Given the description of an element on the screen output the (x, y) to click on. 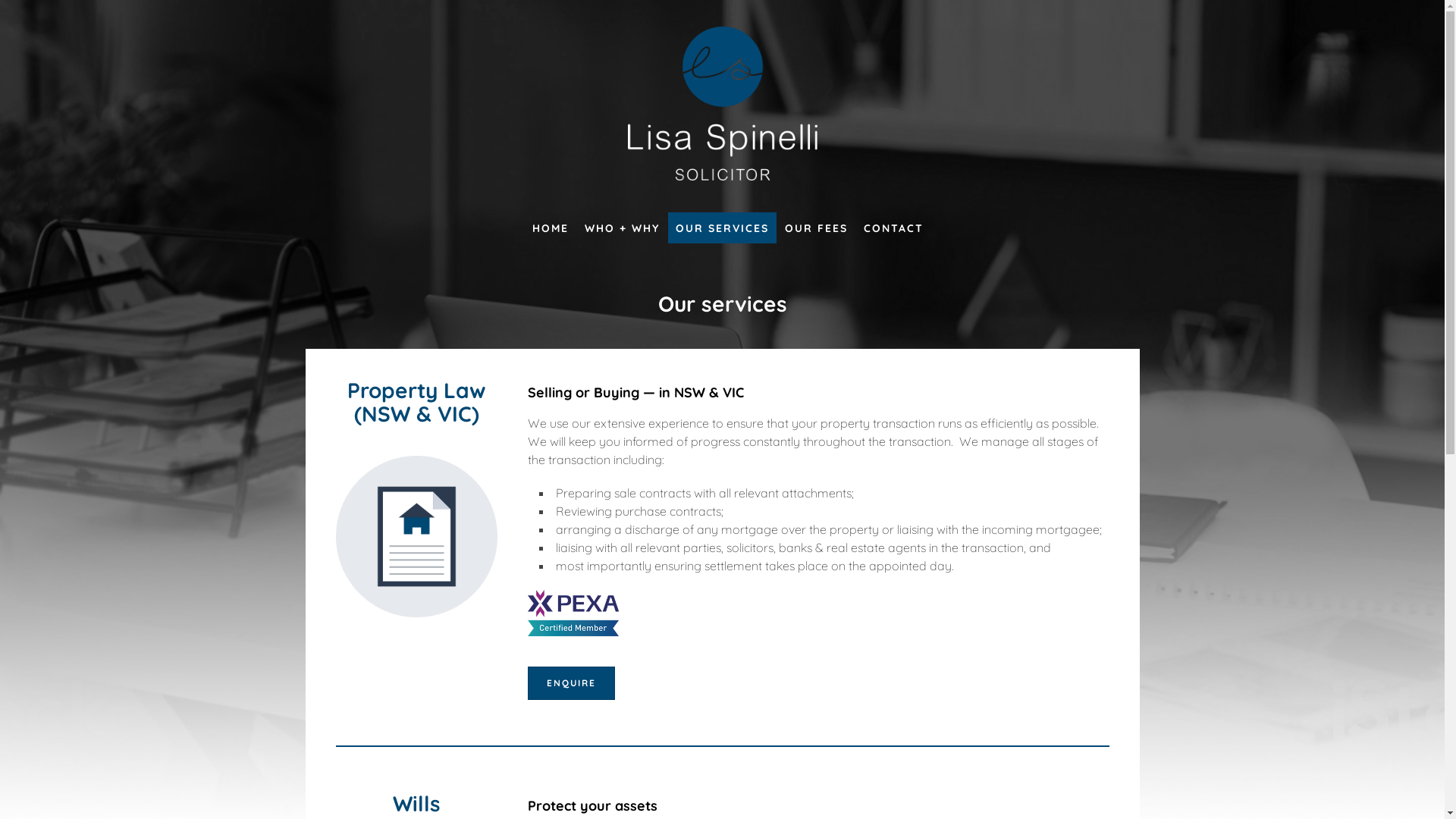
PEXA-Certified-Members(Email) Element type: hover (572, 613)
ENQUIRE Element type: text (571, 682)
OUR FEES Element type: text (816, 227)
Services-roundicons-propertylaw Element type: hover (415, 536)
OUR SERVICES Element type: text (722, 227)
CONTACT Element type: text (893, 227)
HOME Element type: text (550, 227)
WHO + WHY Element type: text (622, 227)
